Given the description of an element on the screen output the (x, y) to click on. 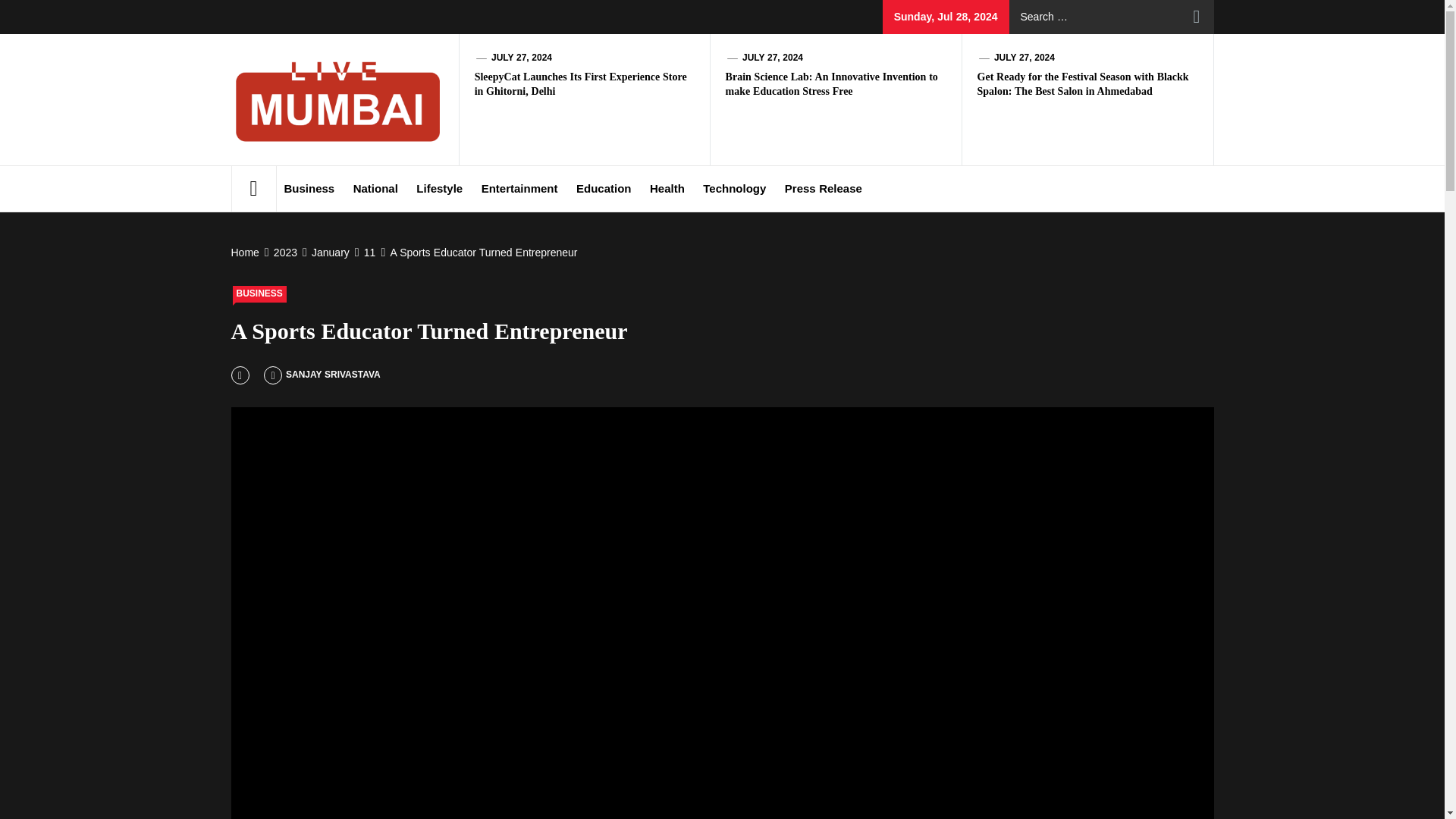
Press Release (823, 188)
JULY 27, 2024 (1024, 57)
National (376, 188)
Search (1196, 17)
11 (368, 252)
SANJAY SRIVASTAVA (321, 374)
JULY 27, 2024 (772, 57)
Business (309, 188)
A Sports Educator Turned Entrepreneur (481, 252)
Search (1196, 17)
Health (667, 188)
January (328, 252)
Home (246, 252)
Technology (734, 188)
